Given the description of an element on the screen output the (x, y) to click on. 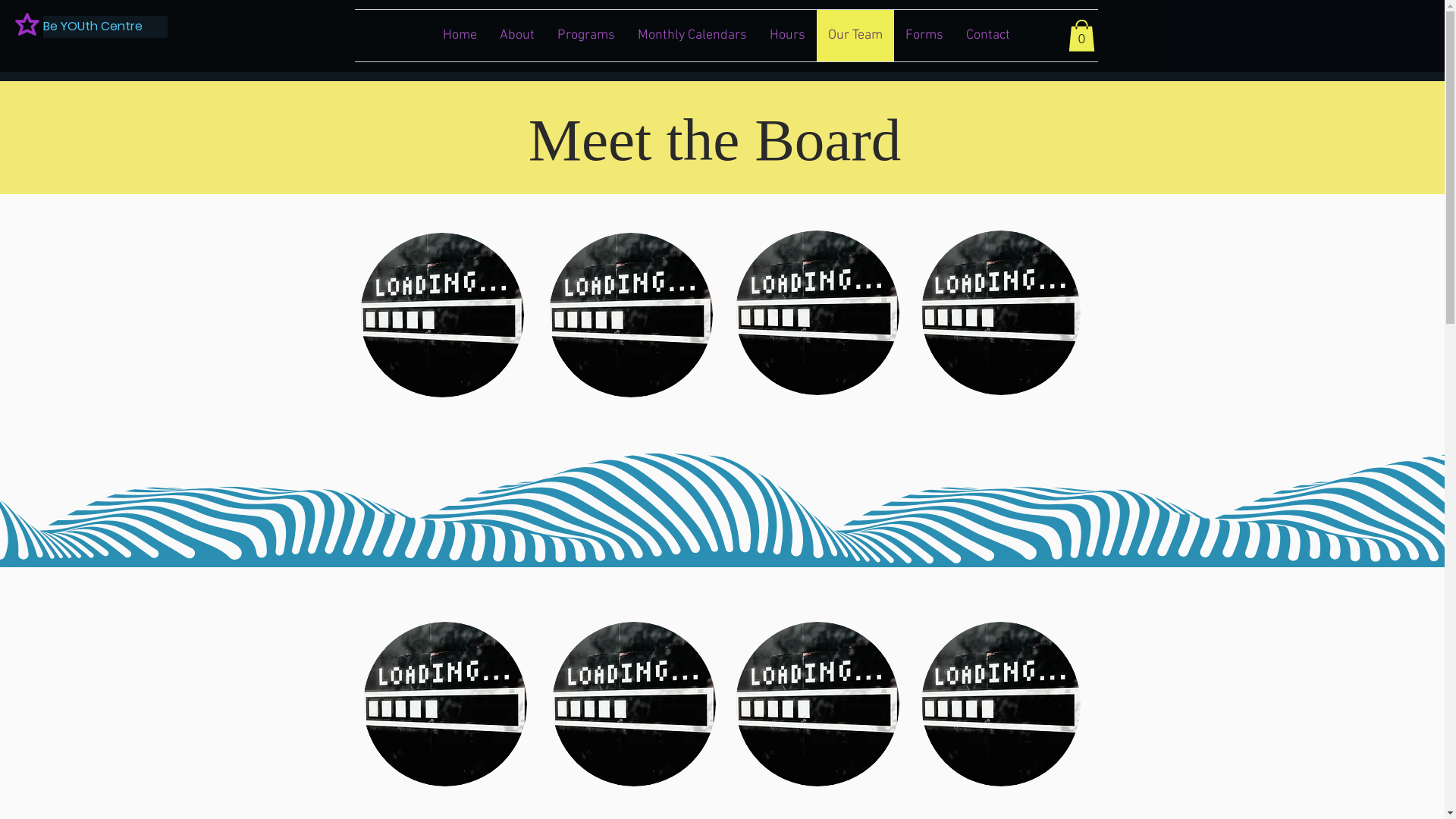
guy4.jpg Element type: hover (817, 312)
Monthly Calendars Element type: text (692, 35)
guy2.jpg Element type: hover (633, 703)
Contact Element type: text (986, 35)
Programs Element type: text (586, 35)
Home Element type: text (458, 35)
Hours Element type: text (787, 35)
Our Team Element type: text (854, 35)
guy2.jpg Element type: hover (630, 314)
About Element type: text (517, 35)
0 Element type: text (1080, 35)
guy4.jpg Element type: hover (817, 703)
Be YOUth Centre Element type: text (105, 26)
Forms Element type: text (923, 35)
guy2.jpg Element type: hover (441, 314)
guy2.jpg Element type: hover (444, 703)
guy3.jpg Element type: hover (999, 312)
guy3.jpg Element type: hover (999, 703)
